Given the description of an element on the screen output the (x, y) to click on. 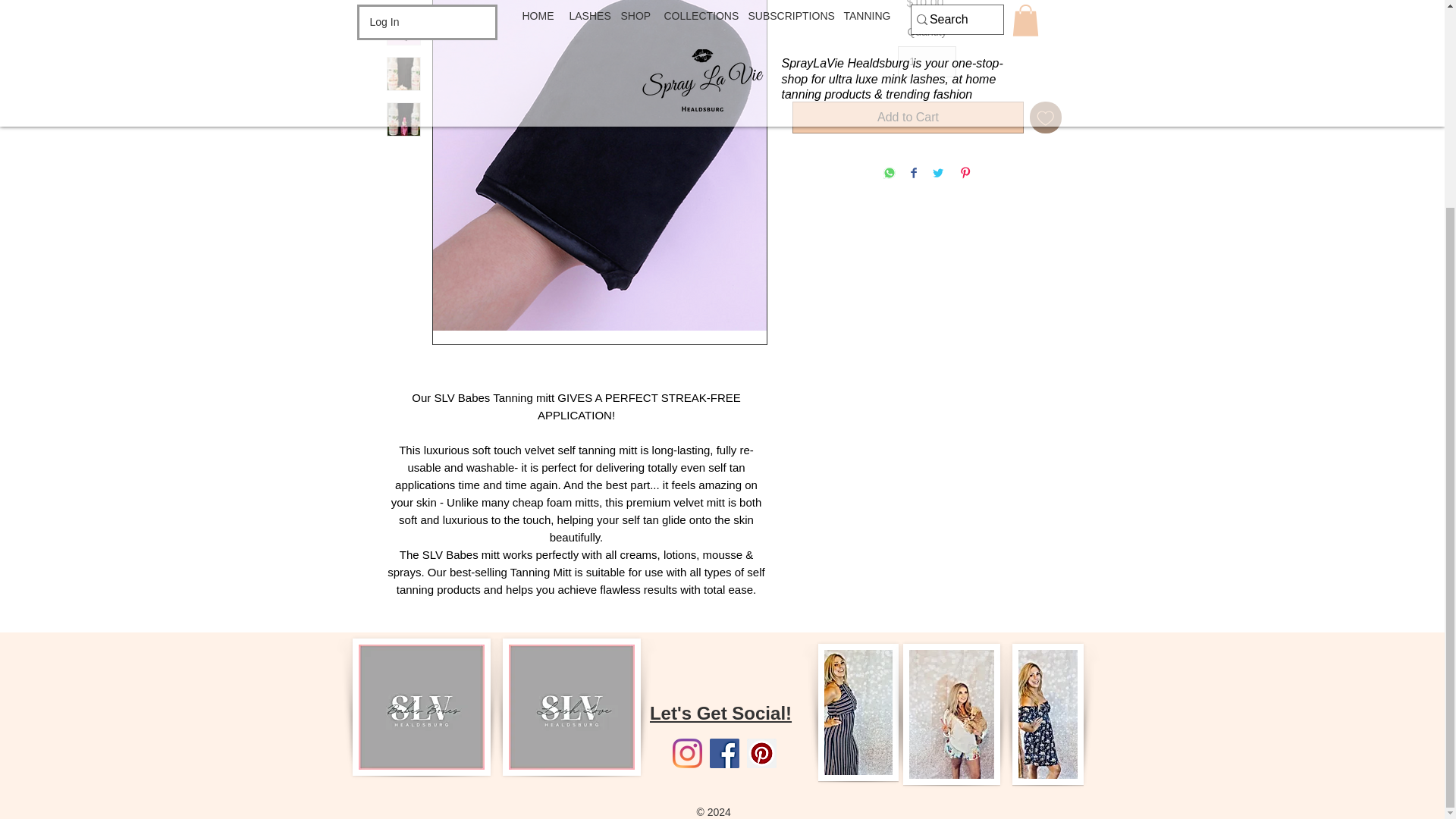
1 (926, 60)
